Given the description of an element on the screen output the (x, y) to click on. 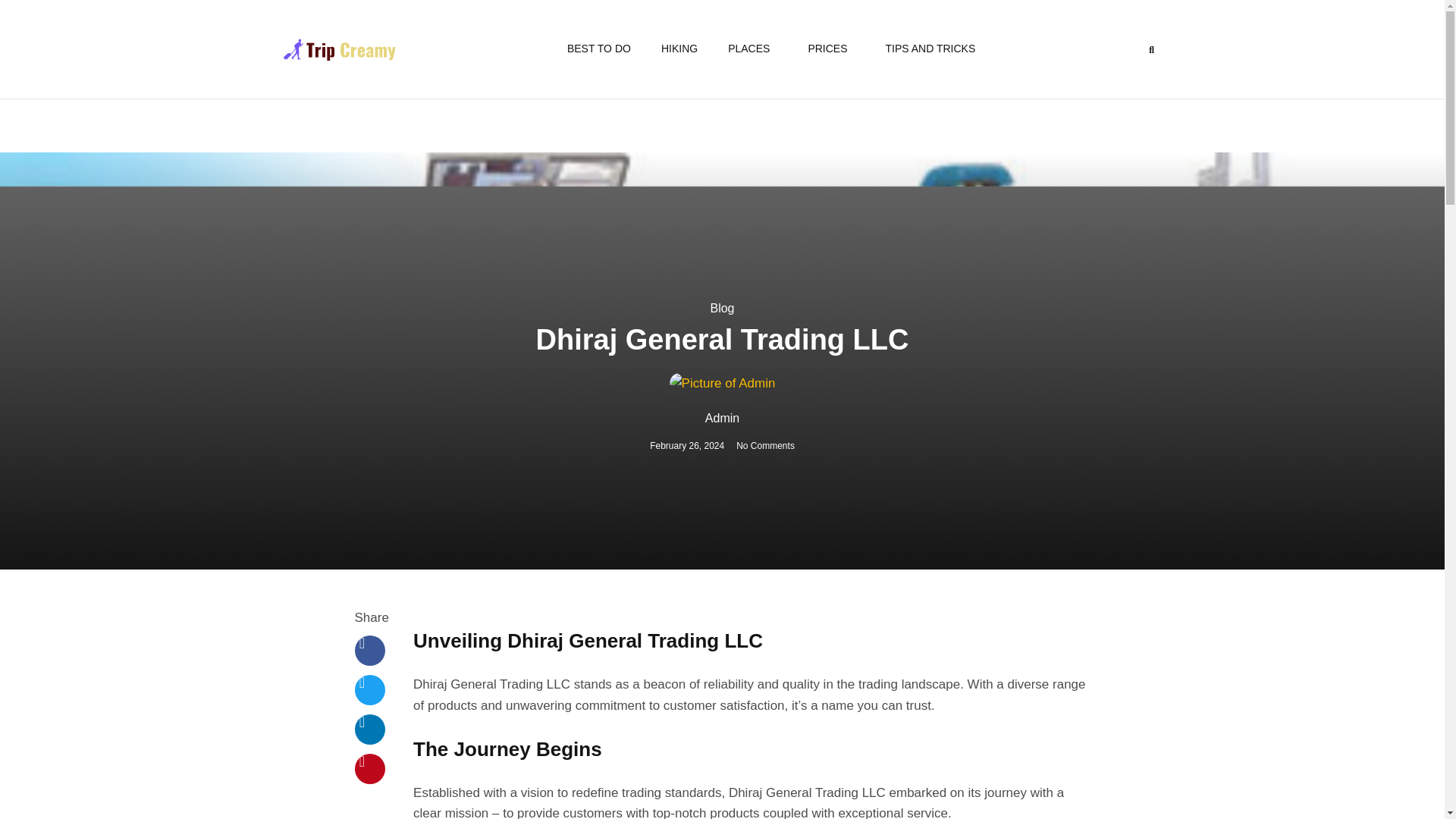
TIPS AND TRICKS (930, 49)
BEST TO DO (598, 49)
HIKING (679, 49)
PRICES (830, 49)
PLACES (752, 49)
